Given the description of an element on the screen output the (x, y) to click on. 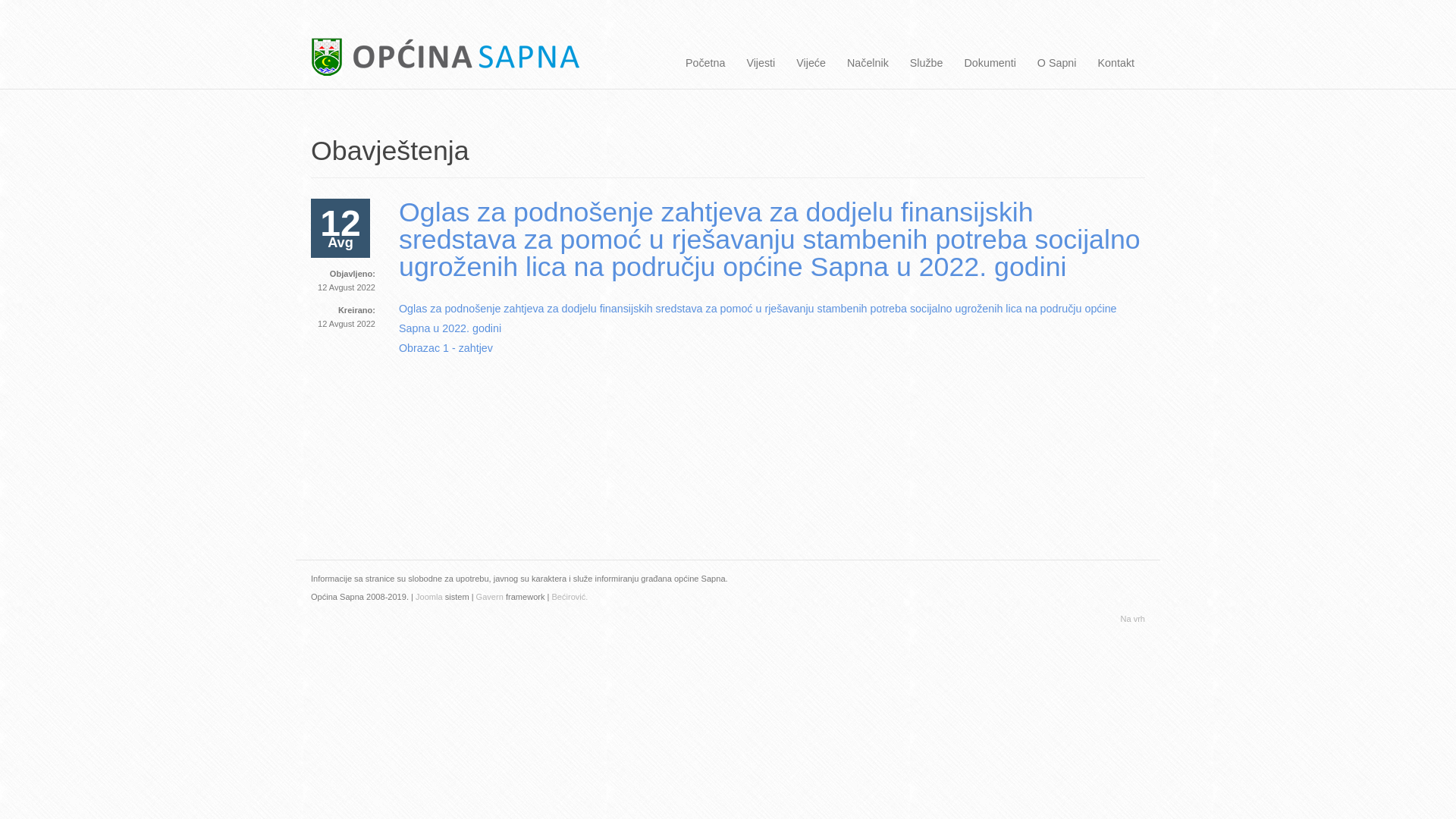
O Sapni Element type: text (1056, 62)
Na vrh Element type: text (1132, 618)
Kontakt Element type: text (1116, 62)
Dokumenti Element type: text (989, 62)
Gavern Element type: text (489, 596)
Obrazac 1 - zahtjev Element type: text (445, 348)
 Joomla Element type: text (427, 596)
Vijesti Element type: text (760, 62)
